Given the description of an element on the screen output the (x, y) to click on. 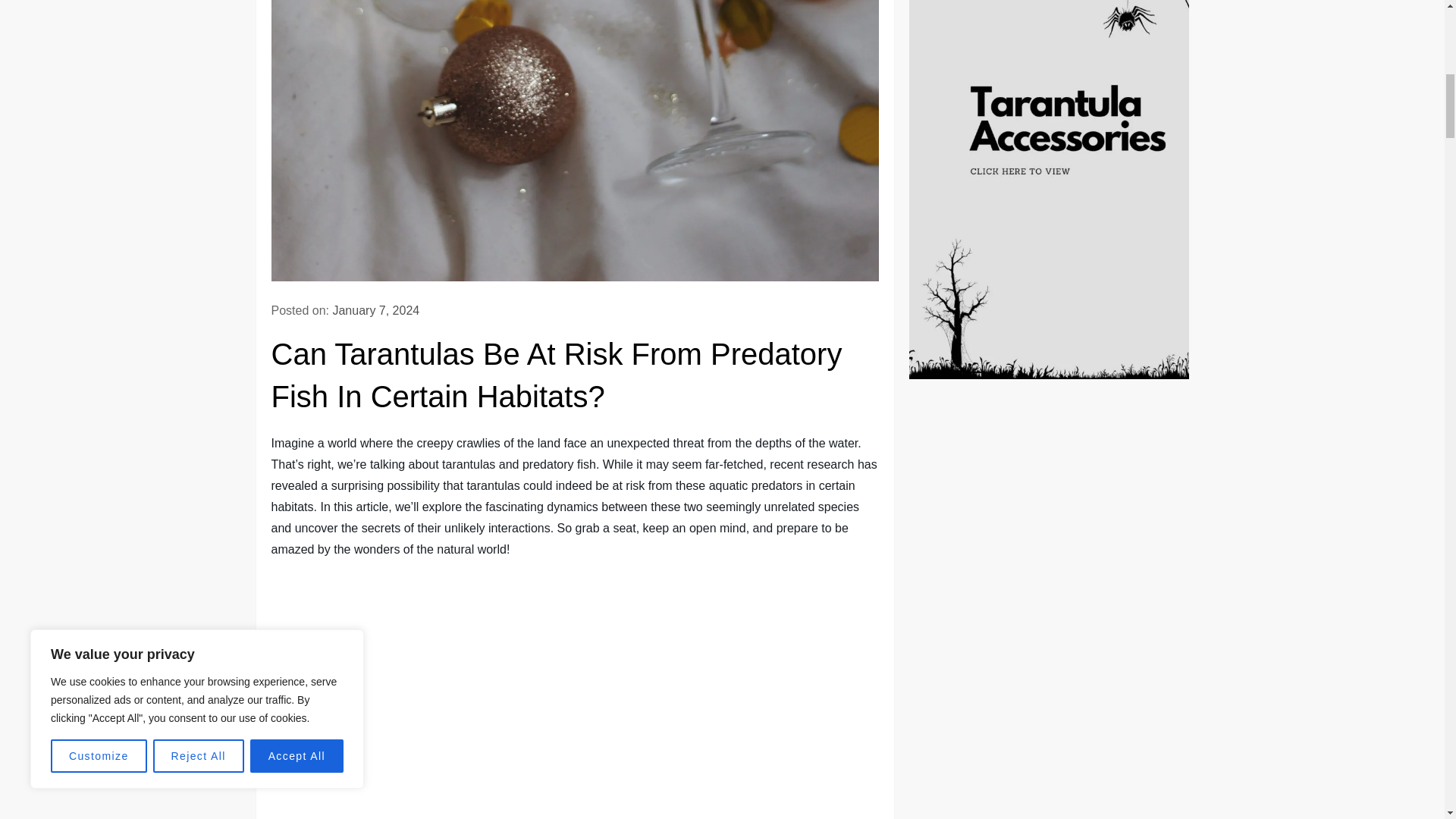
January 7, 2024 (375, 309)
